Given the description of an element on the screen output the (x, y) to click on. 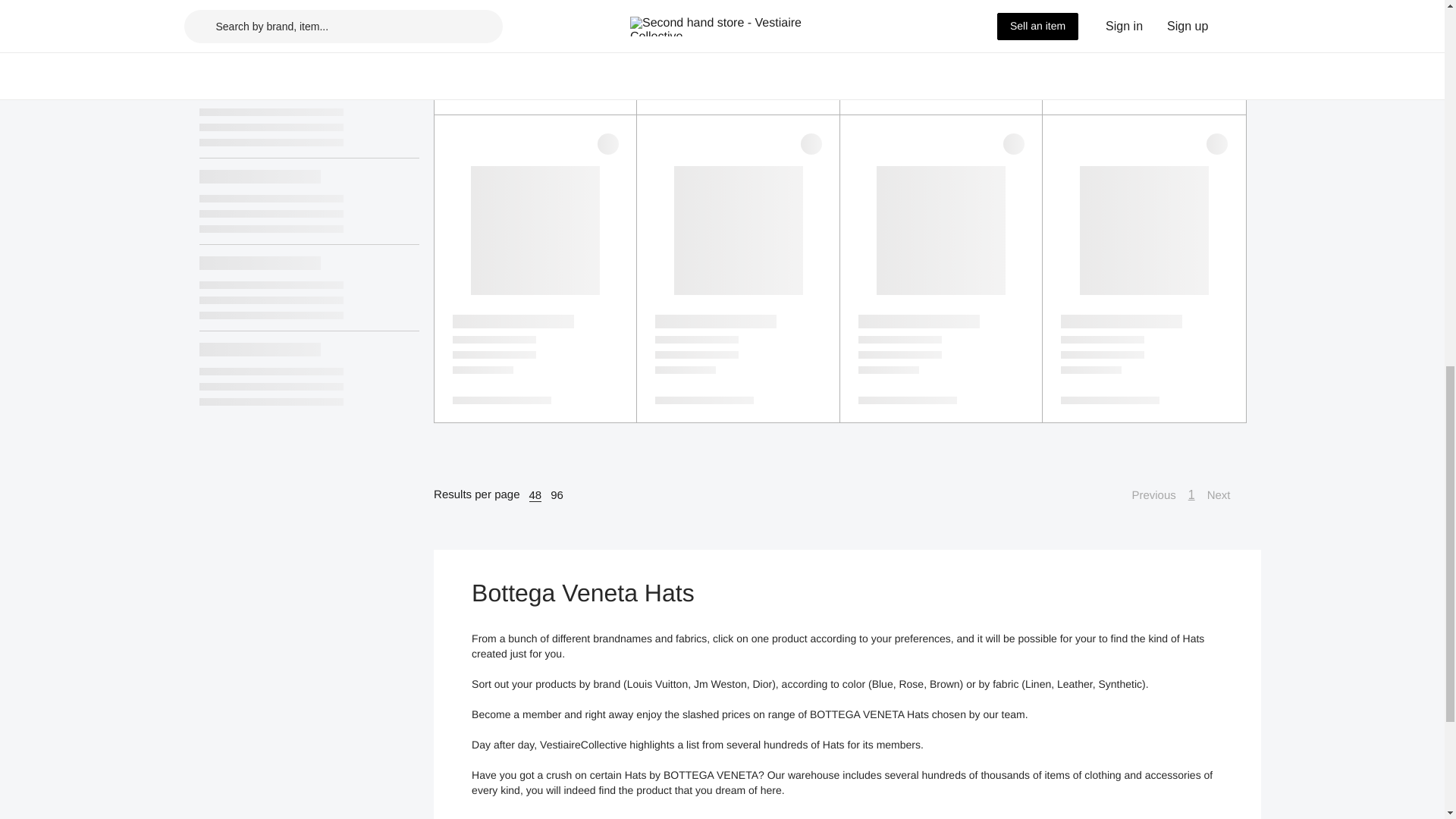
48 (535, 495)
Previous (1145, 495)
96 (556, 495)
Next (1226, 495)
